Given the description of an element on the screen output the (x, y) to click on. 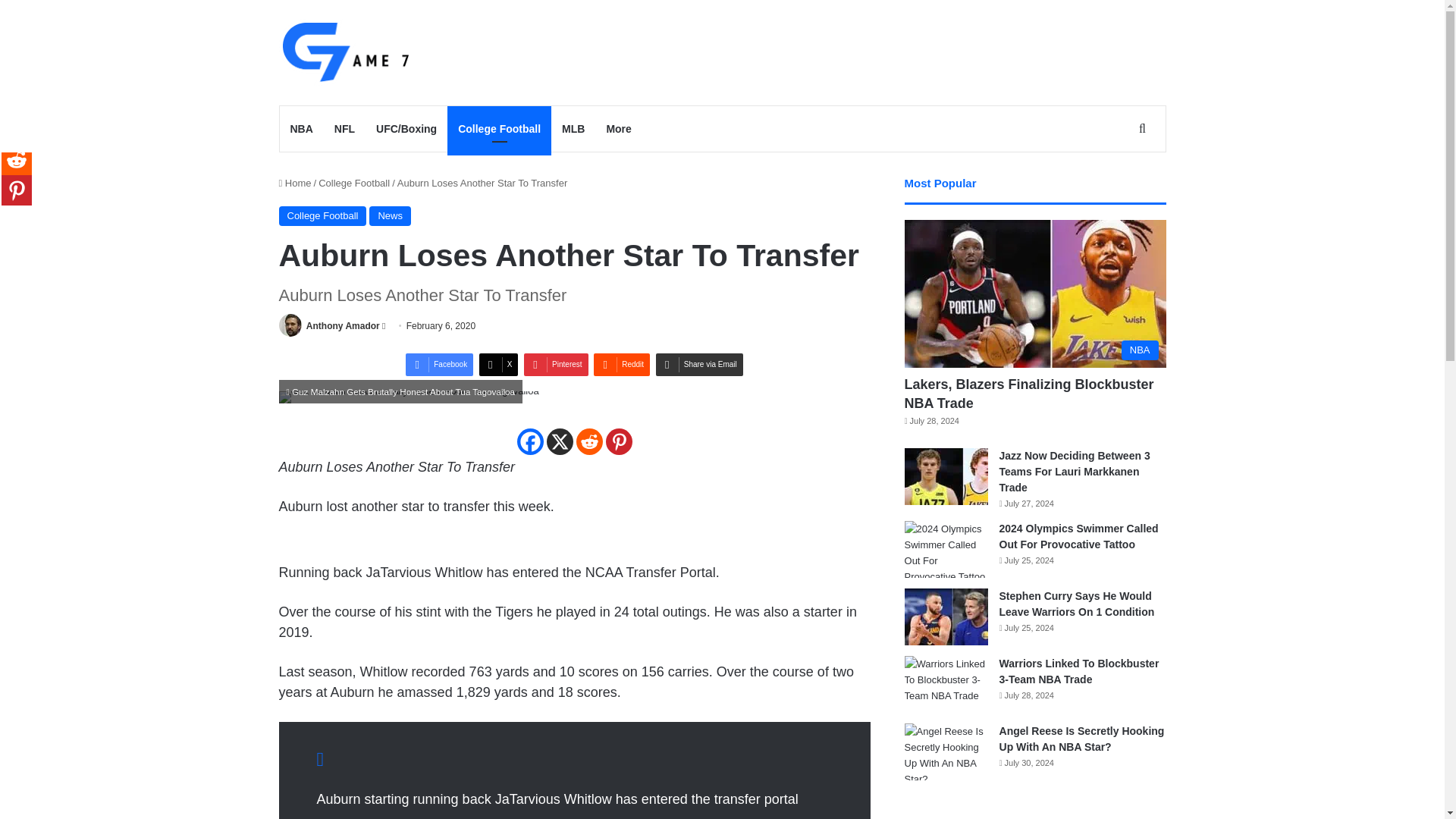
X (559, 441)
Anthony Amador (342, 326)
Facebook (439, 363)
College Football (354, 183)
X (498, 363)
College Football (498, 128)
Pinterest (556, 363)
Pinterest (556, 363)
Home (295, 183)
Reddit (621, 363)
